Given the description of an element on the screen output the (x, y) to click on. 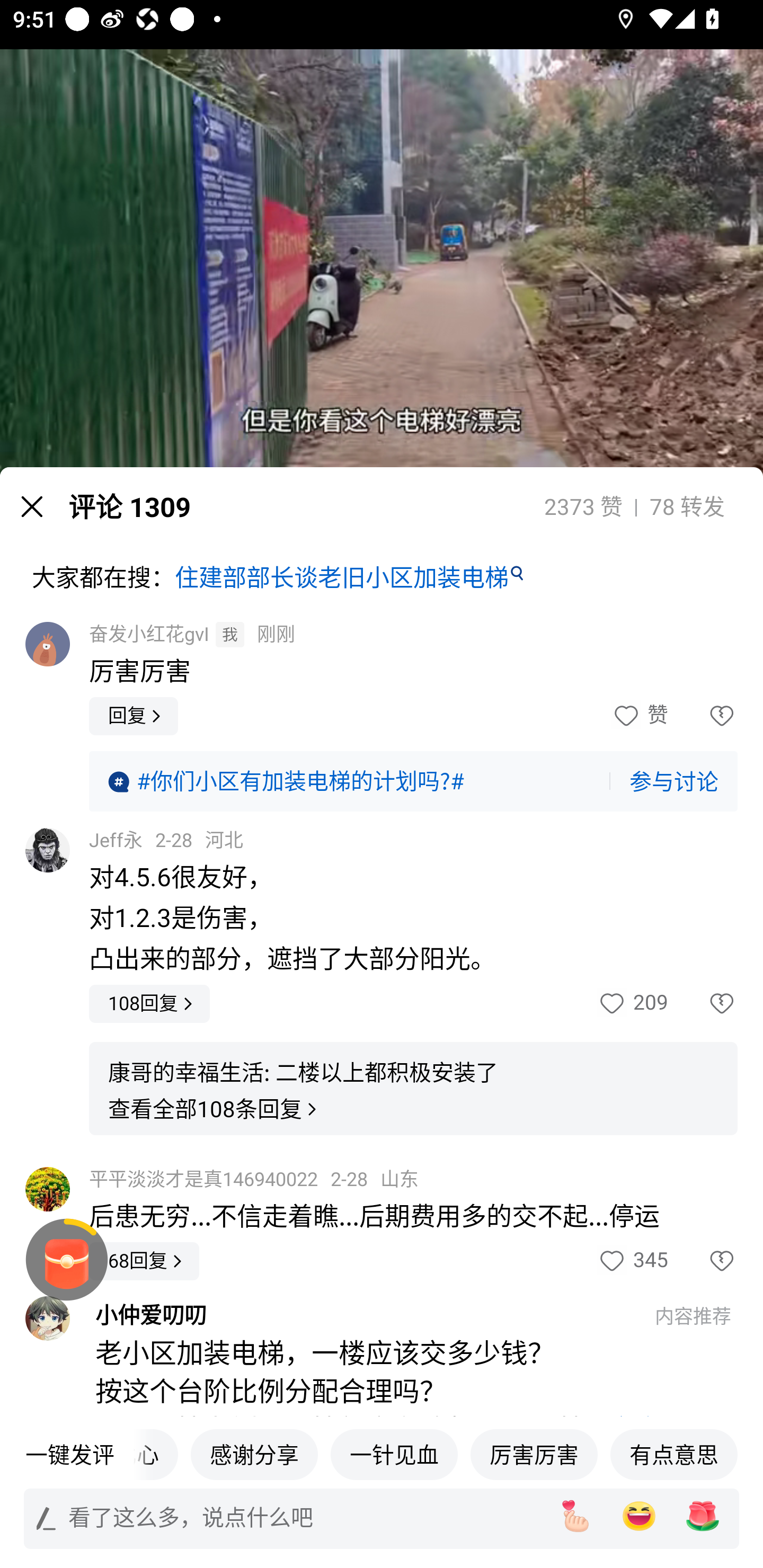
关闭 (31, 506)
奋发小红花gvI 刚刚 (192, 634)
回复 (133, 716)
赞 (638, 716)
踩 (702, 716)
参与讨论,一起参与讨论吧！  #你们小区有加装电梯的计划吗?# 参与讨论 (413, 781)
Jeff永 2-28 河北 (166, 840)
108回复 (149, 1003)
赞209 赞 (631, 1003)
踩 (702, 1003)
康哥的幸福生活: 二楼以上都积极安装了 查看全部108条回复 (413, 1088)
查看全部108条回复 (214, 1109)
平平淡淡才是真146940022 2-28 山东 (253, 1179)
阅读赚金币 (66, 1259)
68回复 (144, 1261)
赞345 赞 (631, 1260)
踩 (702, 1260)
小仲爱叨叨 (365, 1315)
相关搜索：住建部部长谈老旧小区加装电梯 (381, 1459)
感谢分享 (254, 1454)
一针见血 (393, 1454)
厉害厉害 (533, 1454)
有点意思 (673, 1454)
看了这么多，说点什么吧 [比心] [大笑] [玫瑰] (381, 1518)
[比心] (574, 1516)
[大笑] (638, 1516)
[玫瑰] (702, 1516)
